Given the description of an element on the screen output the (x, y) to click on. 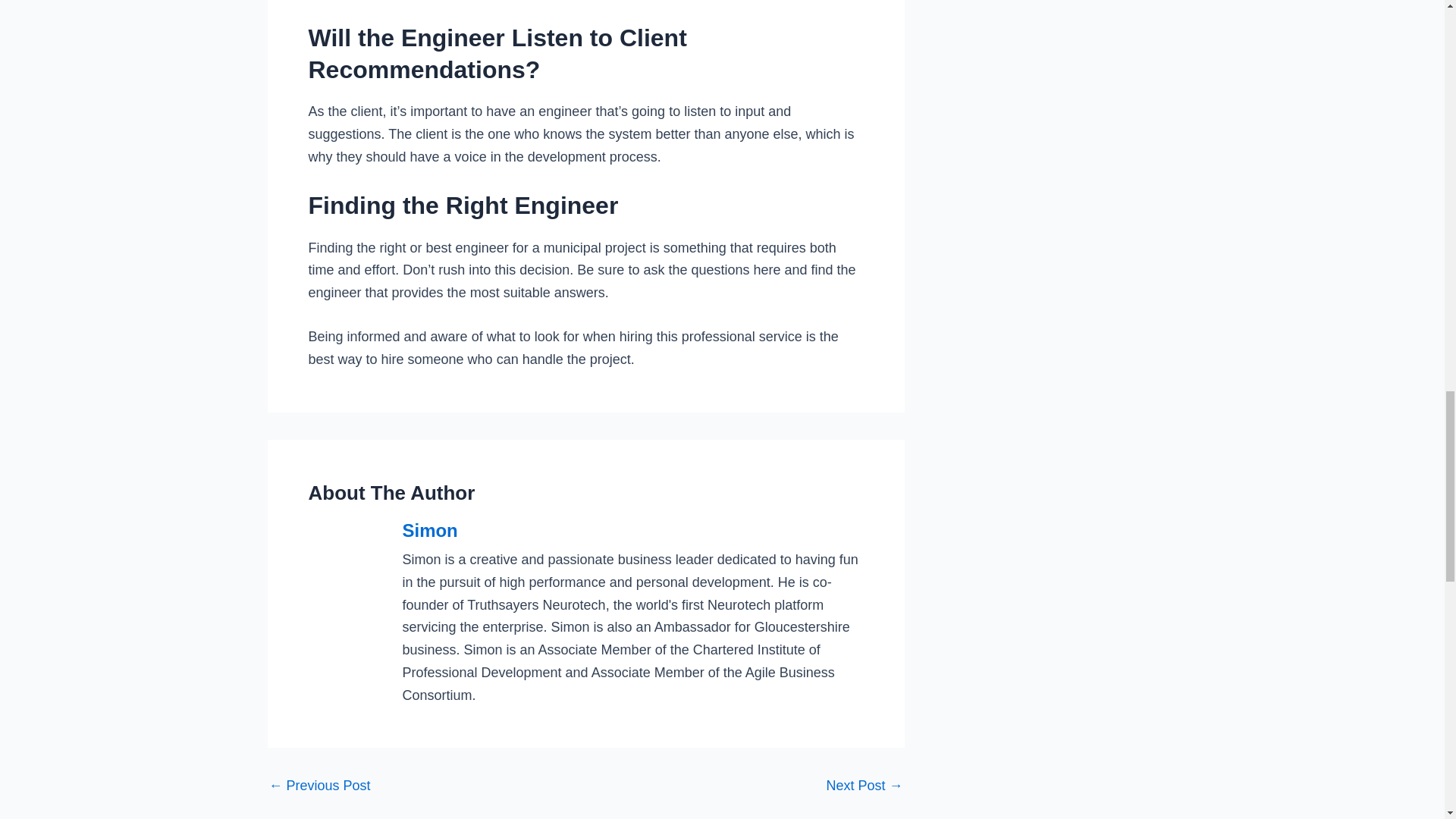
Simon (632, 531)
How to Instantly Boost your Employee Morale (863, 785)
